Given the description of an element on the screen output the (x, y) to click on. 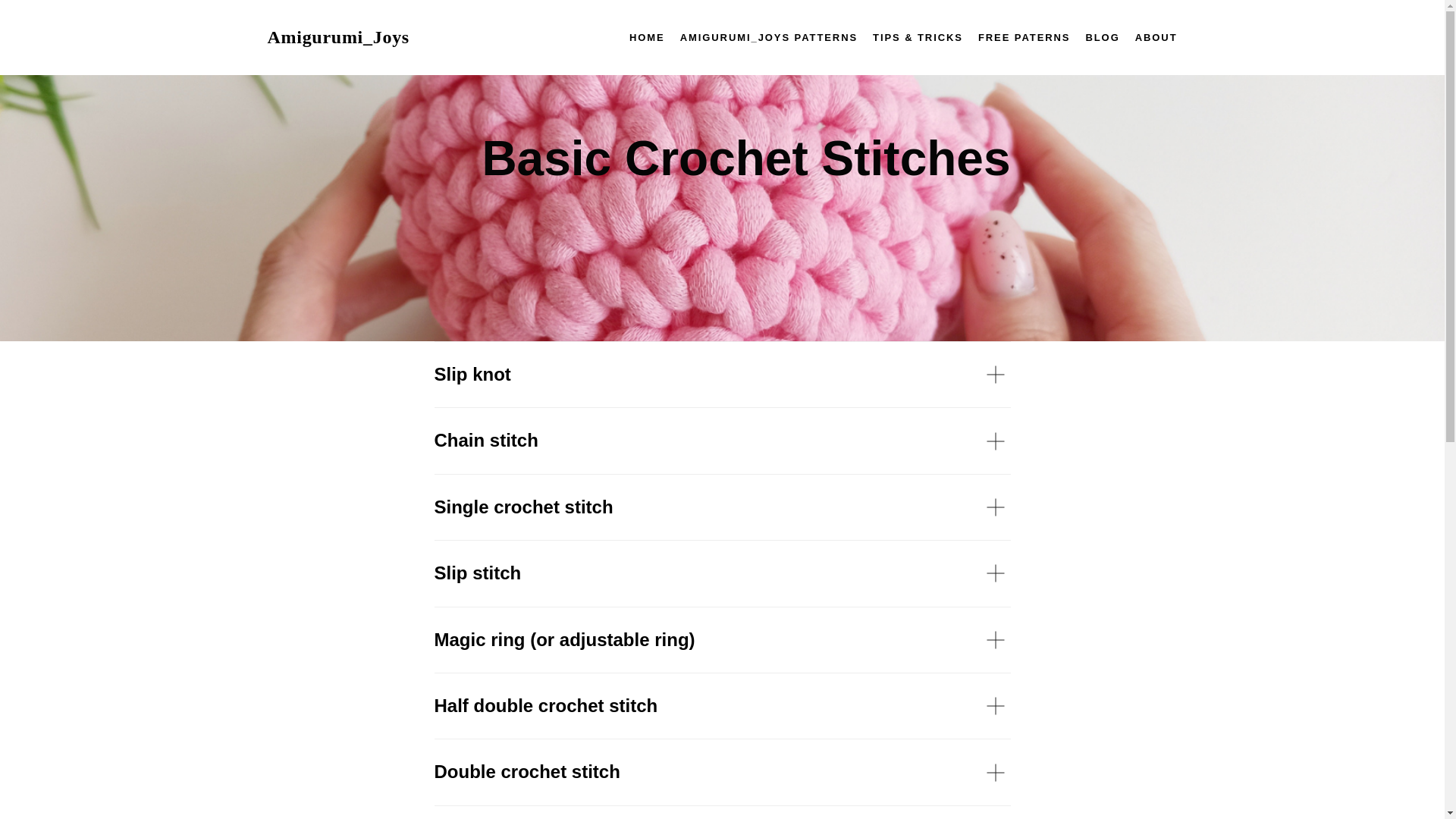
Slip knot (721, 374)
BLOG (1101, 37)
Chain stitch (721, 440)
ABOUT (1156, 37)
Increase (721, 812)
Single crochet stitch (721, 507)
Slip stitch (721, 573)
FREE PATERNS (1024, 37)
Half double crochet stitch (721, 705)
Double crochet stitch (721, 771)
HOME (646, 37)
